Given the description of an element on the screen output the (x, y) to click on. 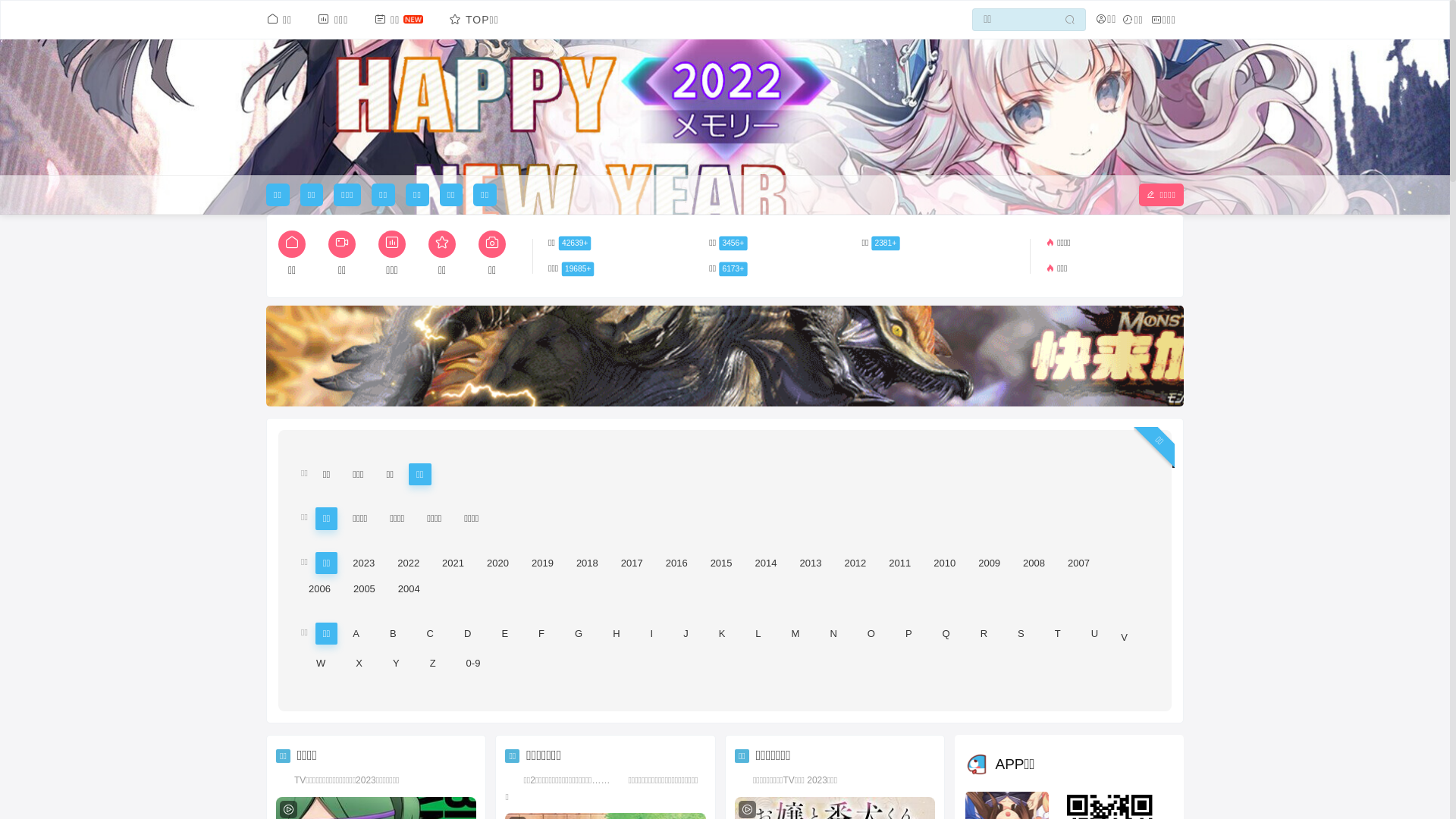
2017 Element type: text (631, 563)
W Element type: text (320, 663)
2015 Element type: text (721, 563)
Q Element type: text (946, 633)
2005 Element type: text (363, 588)
G Element type: text (578, 633)
Z Element type: text (432, 663)
2009 Element type: text (988, 563)
2018 Element type: text (586, 563)
2008 Element type: text (1033, 563)
U Element type: text (1094, 633)
2004 Element type: text (408, 588)
E Element type: text (504, 633)
Y Element type: text (396, 663)
O Element type: text (870, 633)
2012 Element type: text (854, 563)
2020 Element type: text (497, 563)
2011 Element type: text (899, 563)
P Element type: text (908, 633)
2013 Element type: text (809, 563)
T Element type: text (1057, 633)
S Element type: text (1021, 633)
X Element type: text (359, 663)
N Element type: text (833, 633)
2019 Element type: text (542, 563)
C Element type: text (430, 633)
M Element type: text (795, 633)
V Element type: text (1124, 637)
0-9 Element type: text (473, 663)
2007 Element type: text (1078, 563)
2006 Element type: text (319, 588)
2010 Element type: text (944, 563)
D Element type: text (467, 633)
2021 Element type: text (452, 563)
K Element type: text (722, 633)
I Element type: text (652, 633)
J Element type: text (685, 633)
A Element type: text (356, 633)
H Element type: text (616, 633)
L Element type: text (757, 633)
2014 Element type: text (765, 563)
F Element type: text (541, 633)
2022 Element type: text (407, 563)
2023 Element type: text (363, 563)
B Element type: text (393, 633)
R Element type: text (983, 633)
2016 Element type: text (676, 563)
